Given the description of an element on the screen output the (x, y) to click on. 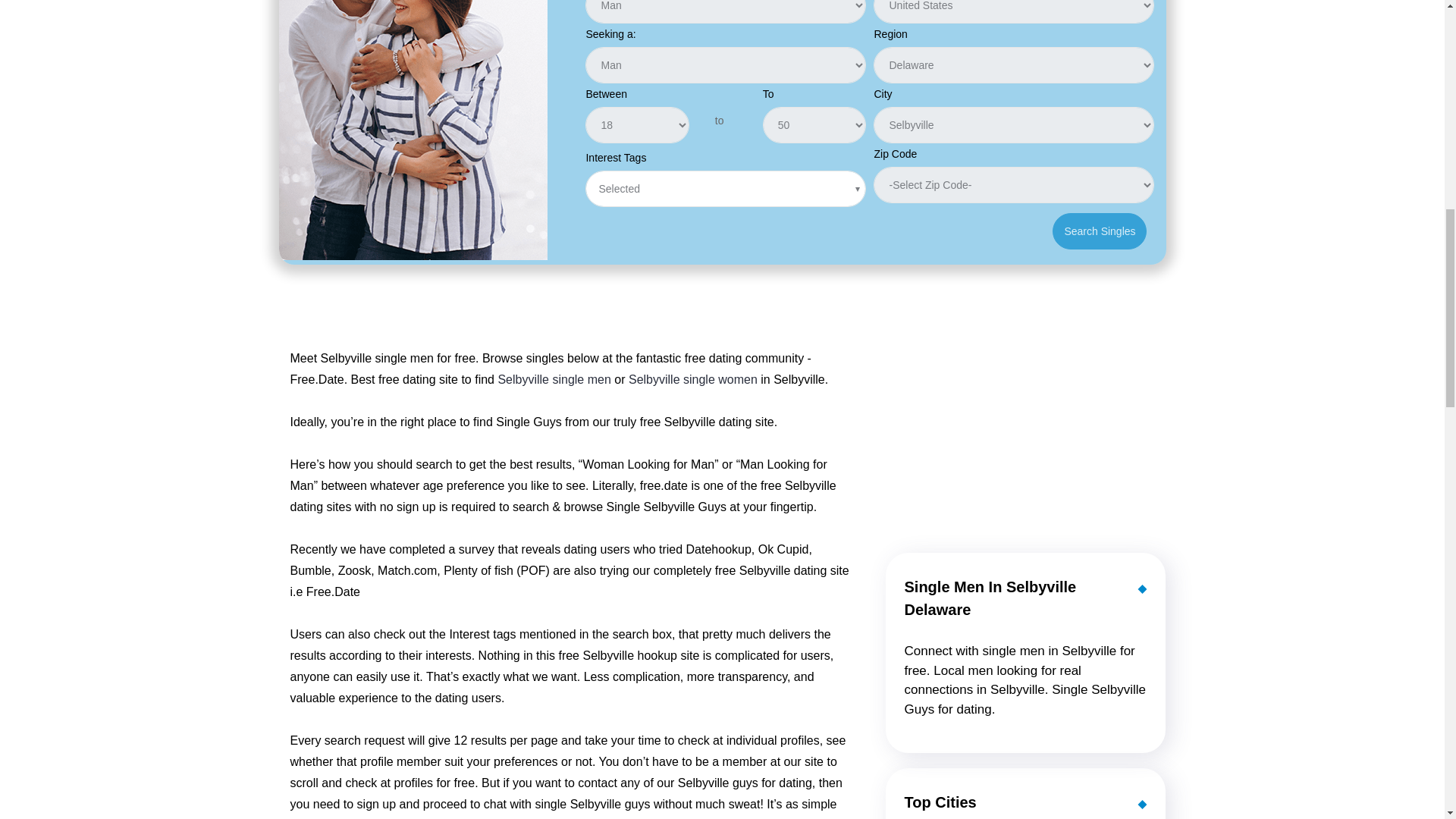
Selbyville single men (553, 379)
Selbyville single women (692, 379)
Search Singles (1099, 230)
